Given the description of an element on the screen output the (x, y) to click on. 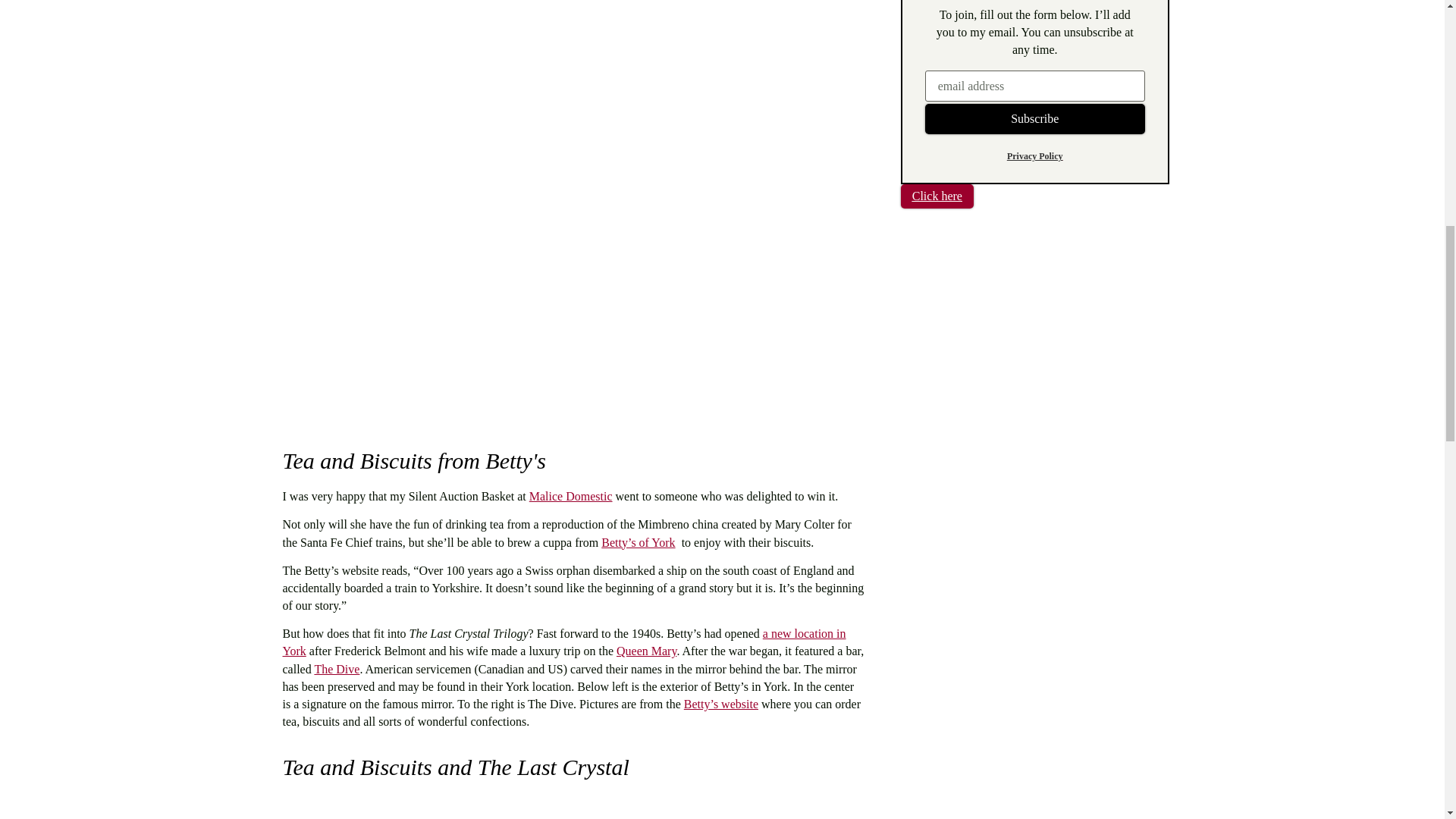
Queen Mary (646, 650)
a new location in York (563, 642)
Malice Domestic (570, 495)
The Dive (336, 668)
